Given the description of an element on the screen output the (x, y) to click on. 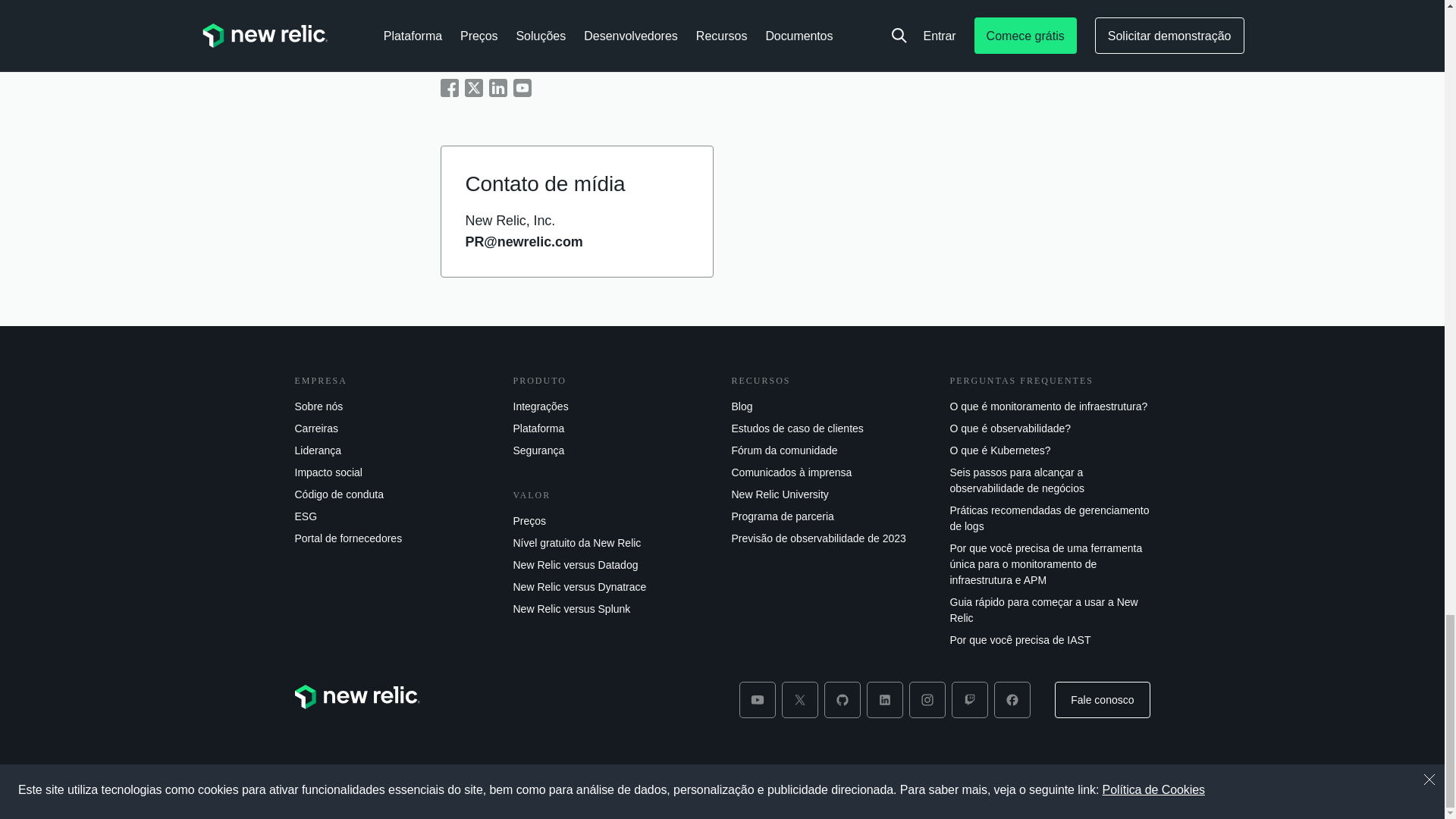
New Relic Logo (356, 696)
